Given the description of an element on the screen output the (x, y) to click on. 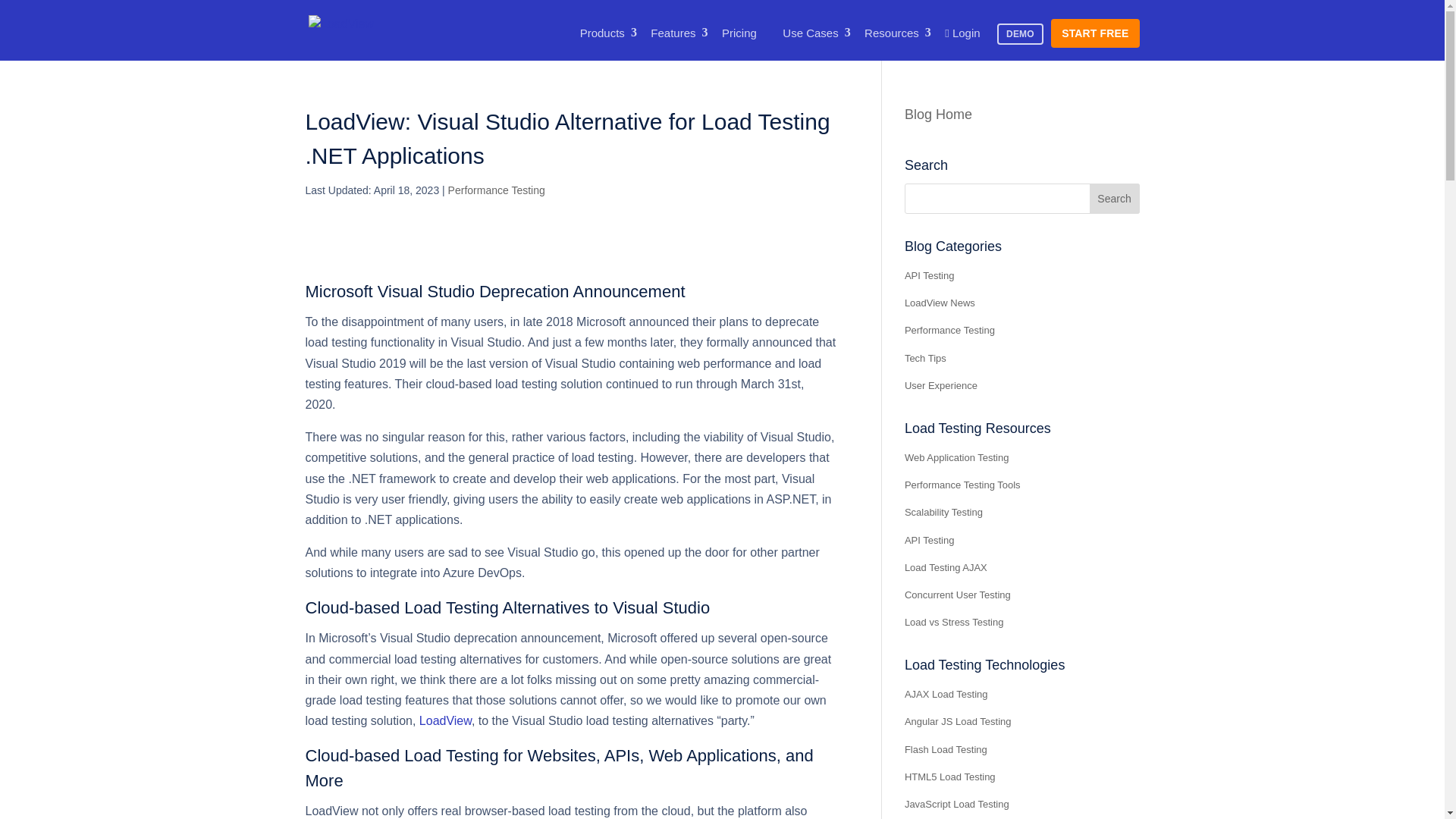
Products (601, 32)
Search (1114, 198)
Resources (892, 32)
Use Cases (810, 32)
Features (673, 32)
Pricing (739, 32)
